Given the description of an element on the screen output the (x, y) to click on. 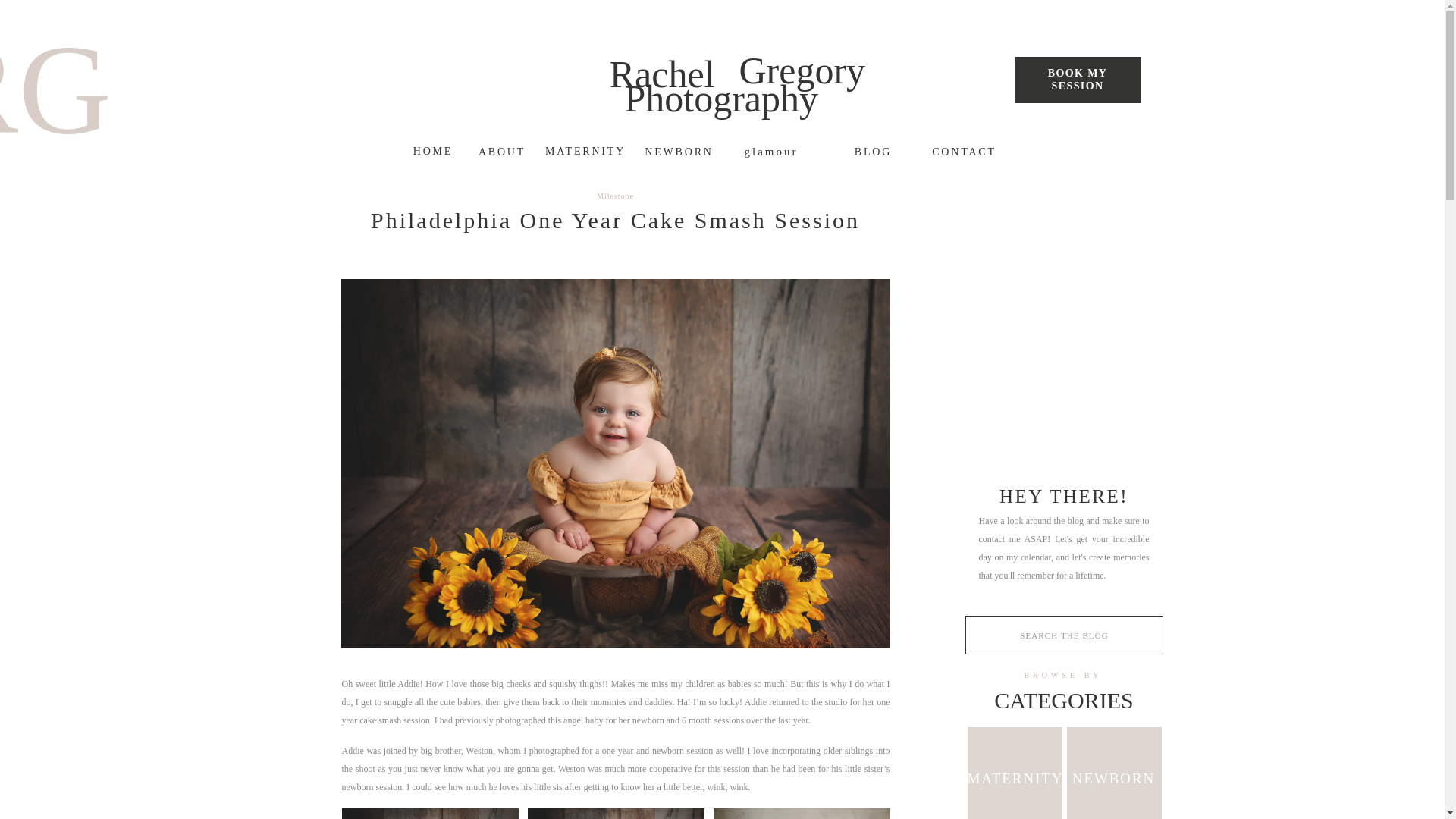
ABOUT (501, 150)
NEWBORN (1112, 775)
Milestone (614, 195)
NEWBORN (679, 151)
CONTACT (963, 152)
MATERNITY (1014, 774)
MATERNITY (584, 151)
HOME (433, 150)
glamour (1077, 83)
BLOG (778, 151)
